Given the description of an element on the screen output the (x, y) to click on. 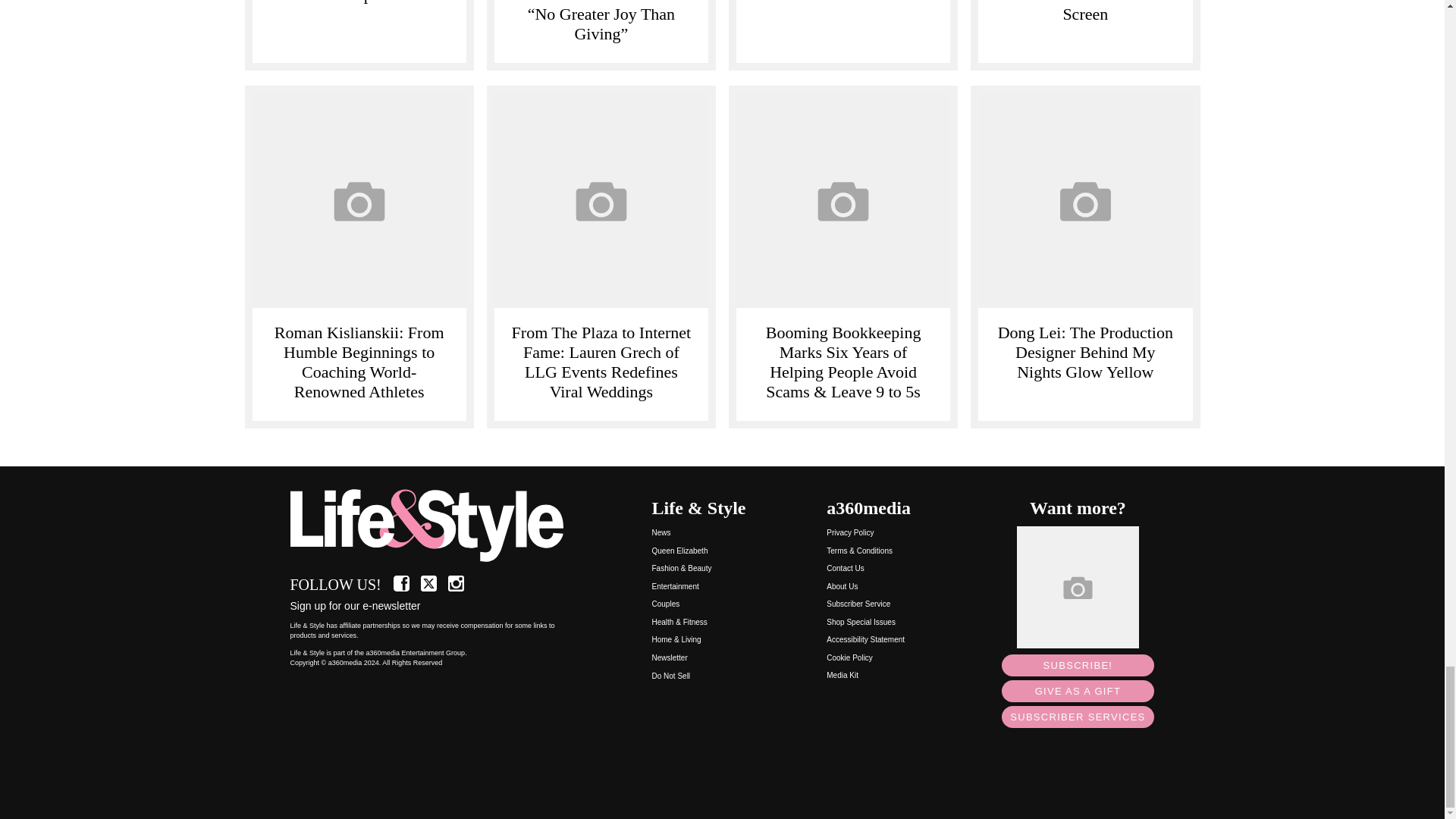
Home (434, 526)
